Given the description of an element on the screen output the (x, y) to click on. 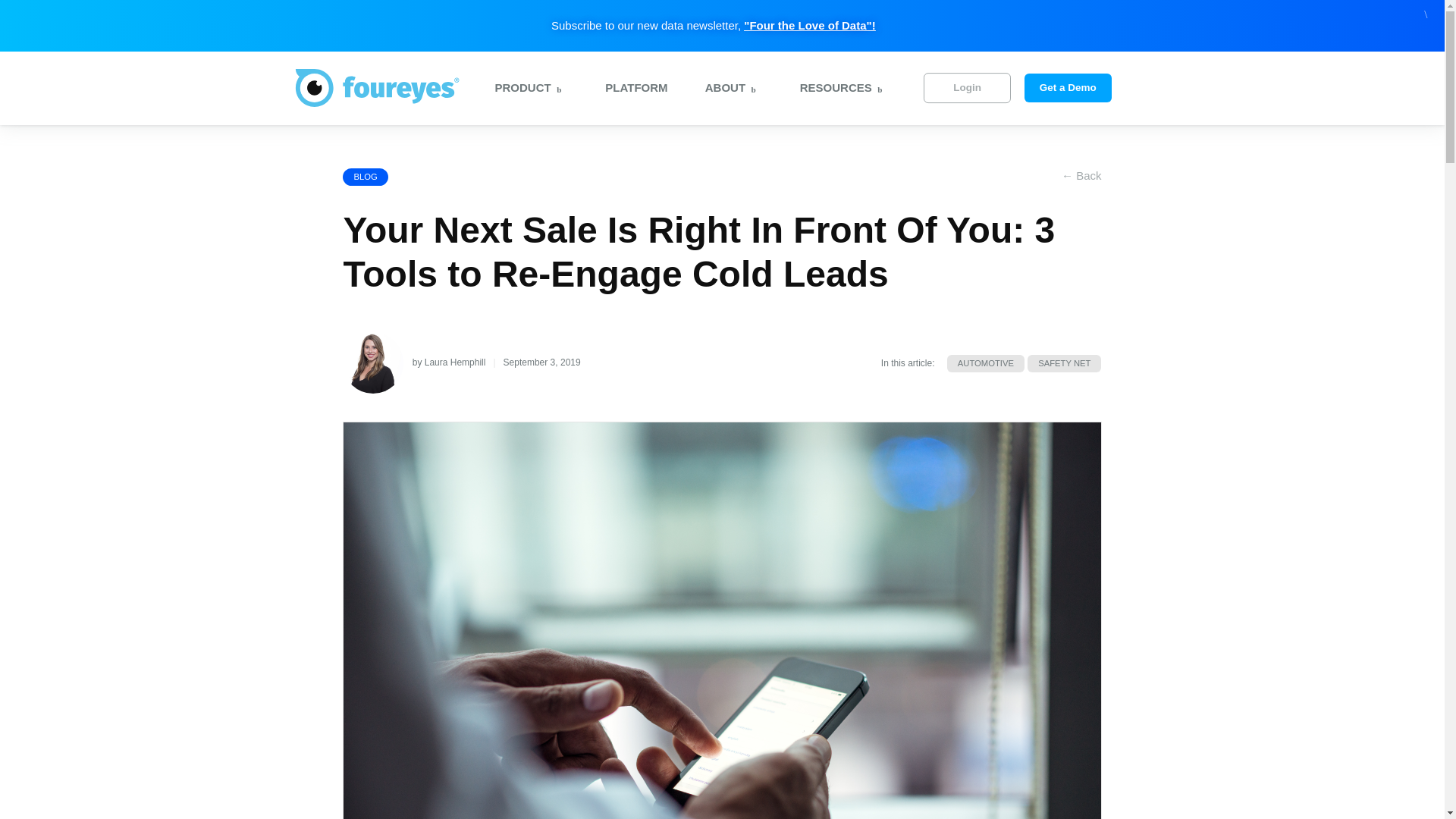
PRODUCT (525, 97)
"Four the Love of Data"! (809, 24)
BLOG (364, 176)
RESOURCES (839, 97)
ABOUT (728, 97)
PLATFORM (630, 87)
Get a Demo (1068, 87)
Login (966, 87)
AUTOMOTIVE (986, 363)
